Given the description of an element on the screen output the (x, y) to click on. 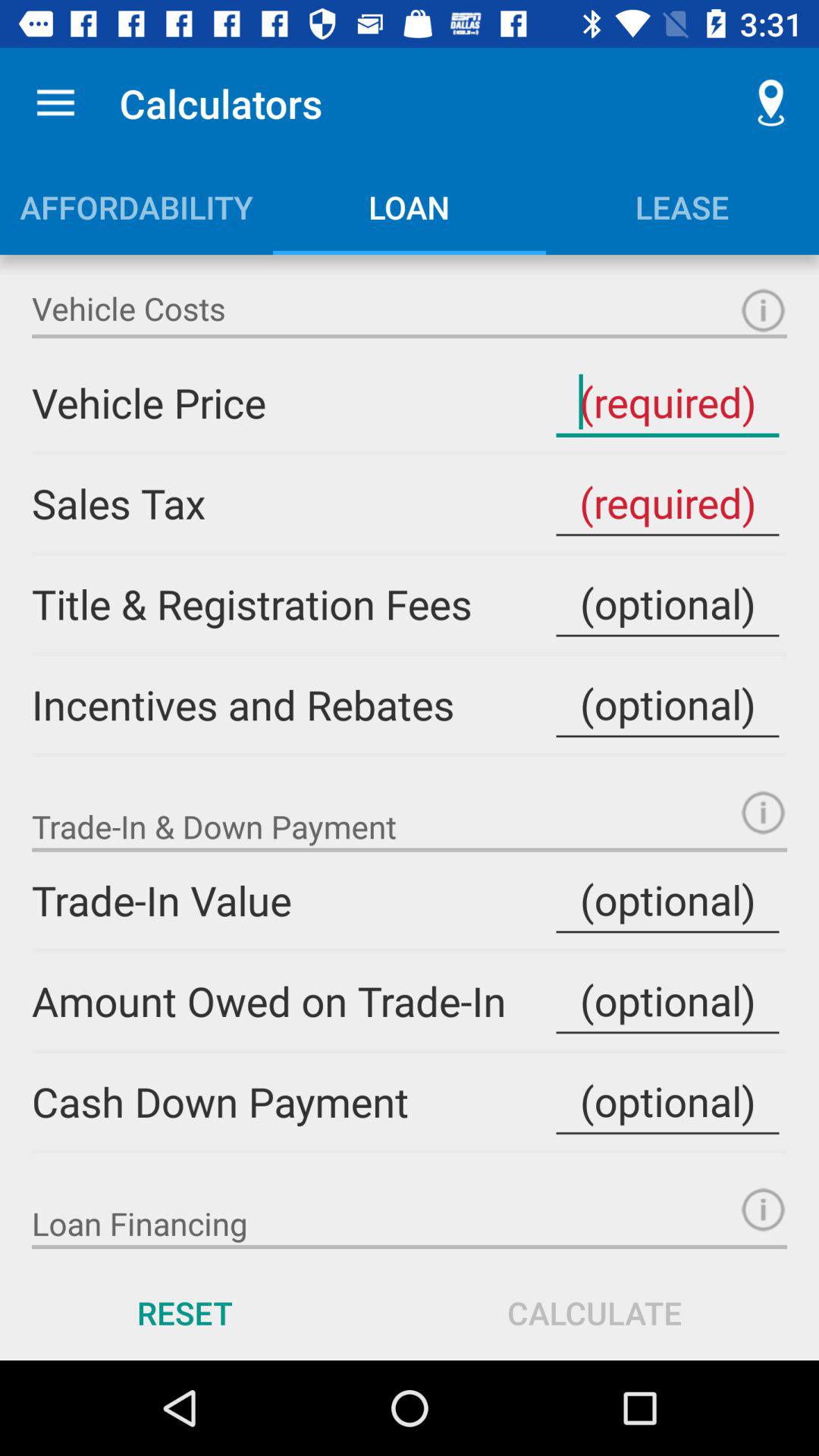
open the icon next to calculate item (184, 1312)
